Given the description of an element on the screen output the (x, y) to click on. 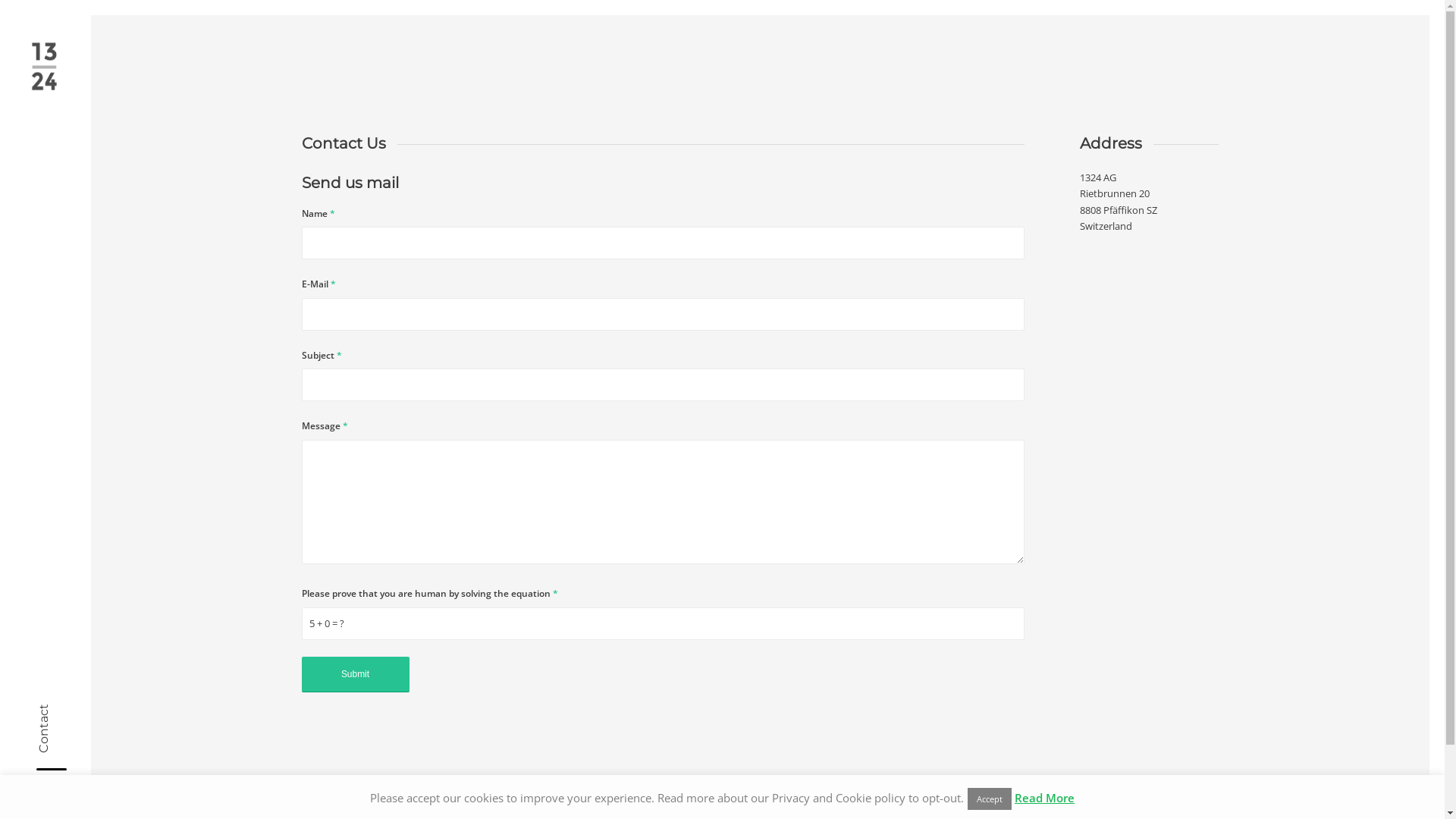
Accept Element type: text (989, 798)
Submit Element type: text (355, 674)
Contact Element type: text (60, 710)
Read More Element type: text (1044, 798)
